Given the description of an element on the screen output the (x, y) to click on. 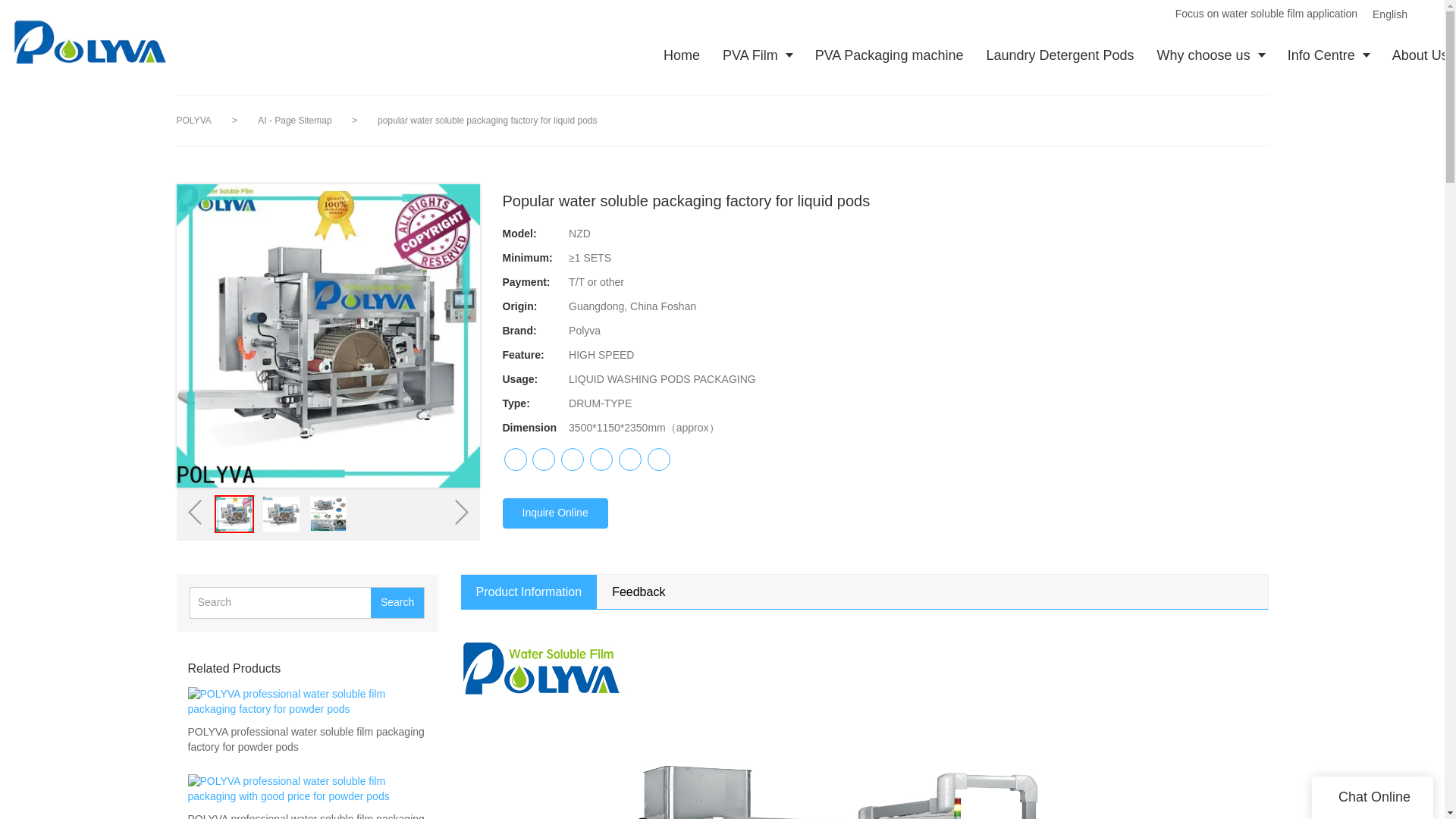
Home (681, 55)
About Us (1418, 55)
AI - Page Sitemap (295, 120)
PVA Film (757, 55)
Why choose us (1210, 55)
POLYVA (193, 120)
PVA Packaging machine (889, 55)
Inquire Online (554, 512)
Search (397, 603)
Laundry Detergent Pods (1059, 55)
Info Centre (1328, 55)
